Given the description of an element on the screen output the (x, y) to click on. 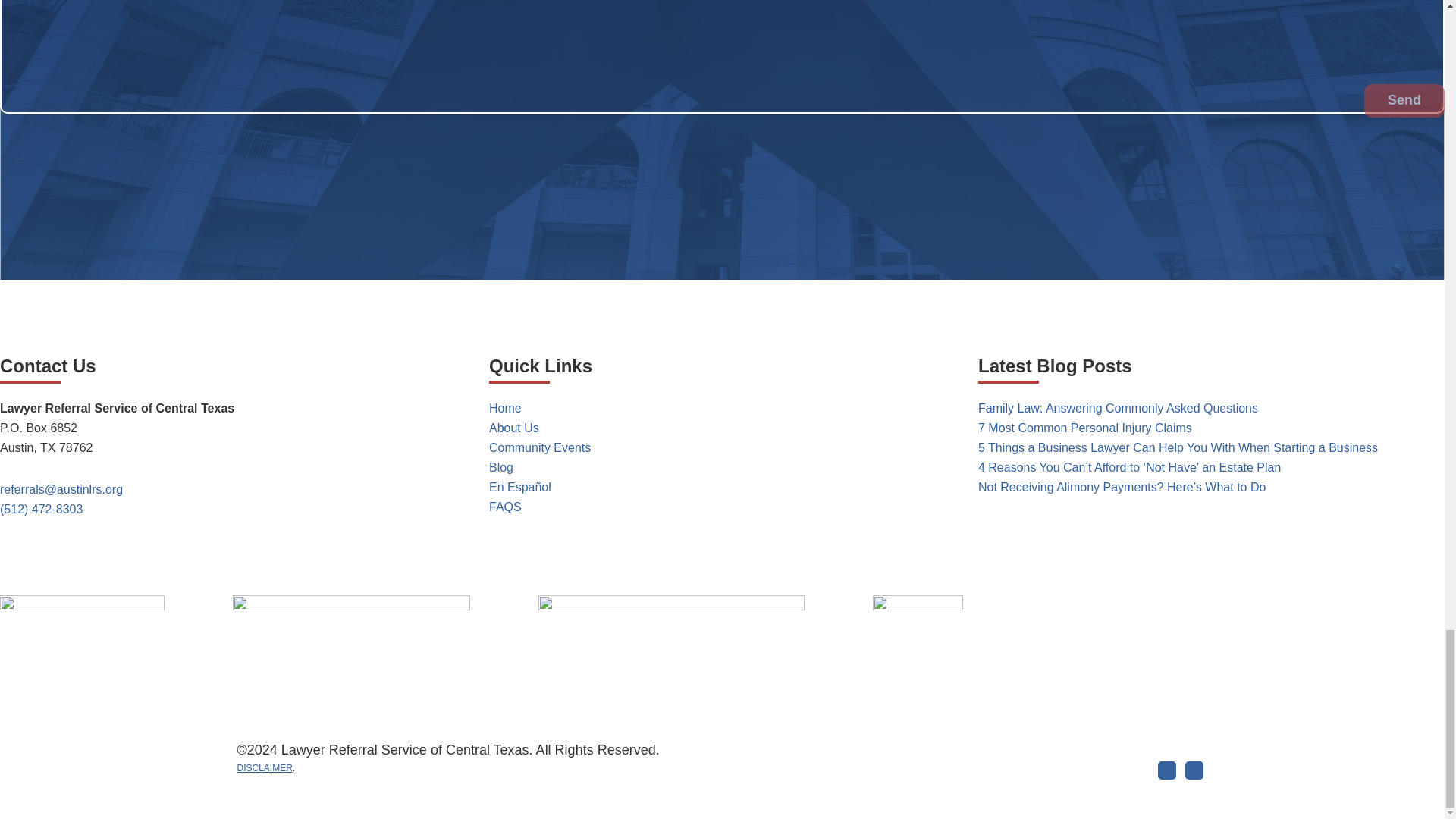
FAQS (505, 506)
7 Most Common Personal Injury Claims (1085, 427)
About Us (513, 427)
Blog (501, 467)
Community Events (540, 447)
Home (505, 408)
Family Law: Answering Commonly Asked Questions (1117, 408)
